Given the description of an element on the screen output the (x, y) to click on. 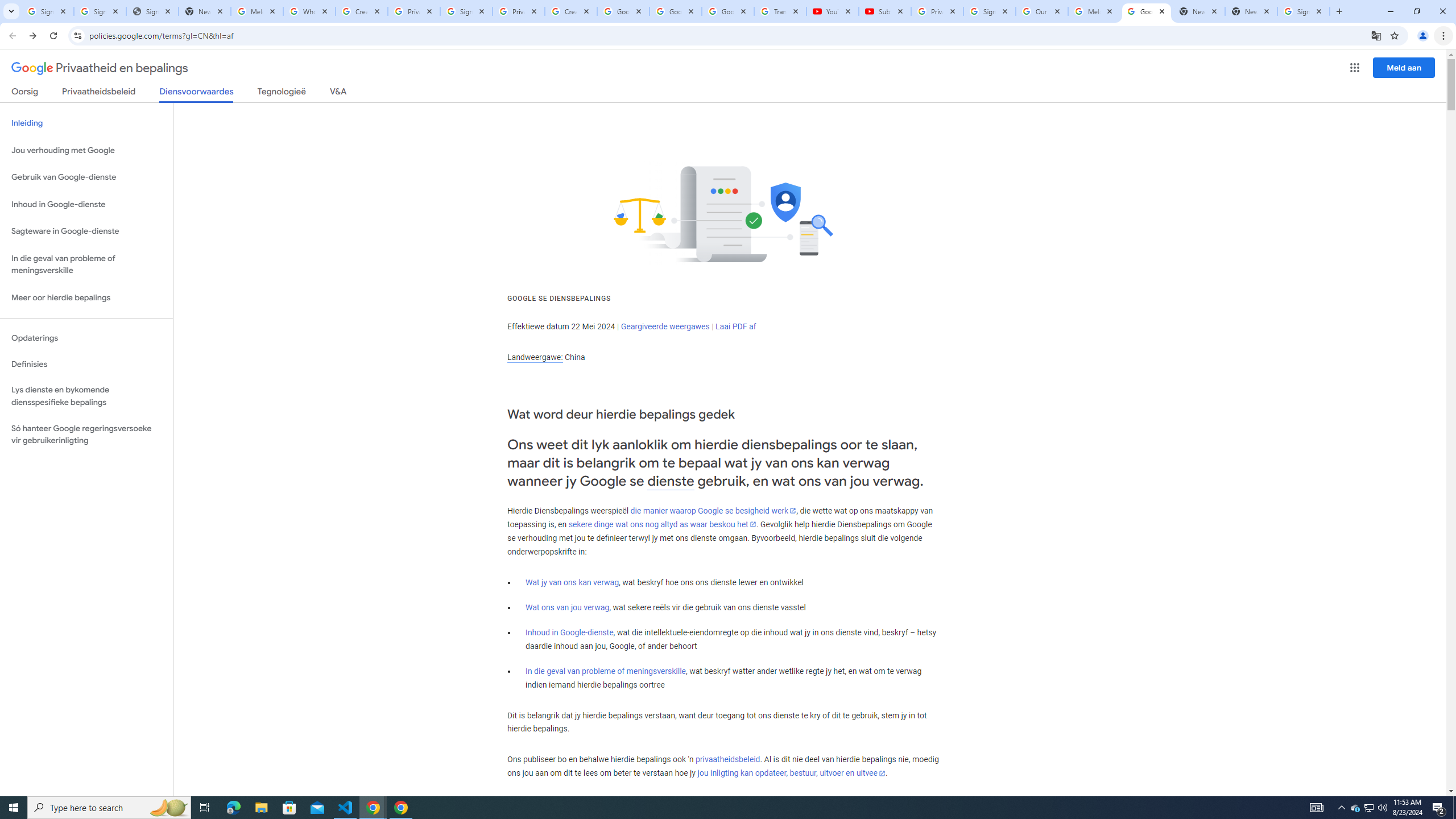
Sign in - Google Accounts (989, 11)
Geargiveerde weergawes (665, 326)
New Tab (1251, 11)
Privaatheid en bepalings (99, 68)
Laai PDF af (735, 326)
